Given the description of an element on the screen output the (x, y) to click on. 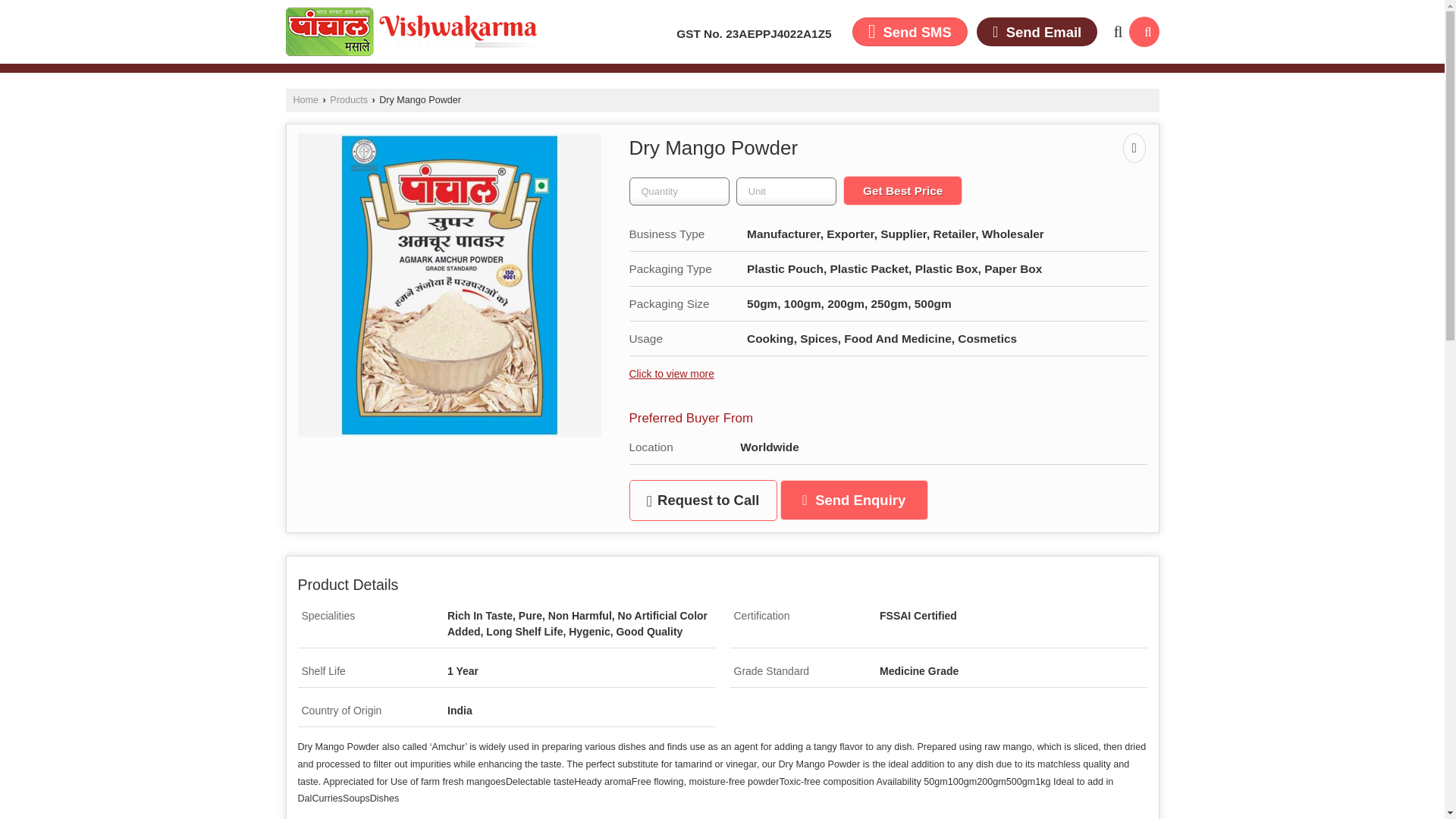
Send SMS (909, 31)
Home (305, 100)
Send Email (1036, 31)
Search (1143, 31)
Products (349, 100)
Vishwakarma Grah Udyog (411, 31)
